Given the description of an element on the screen output the (x, y) to click on. 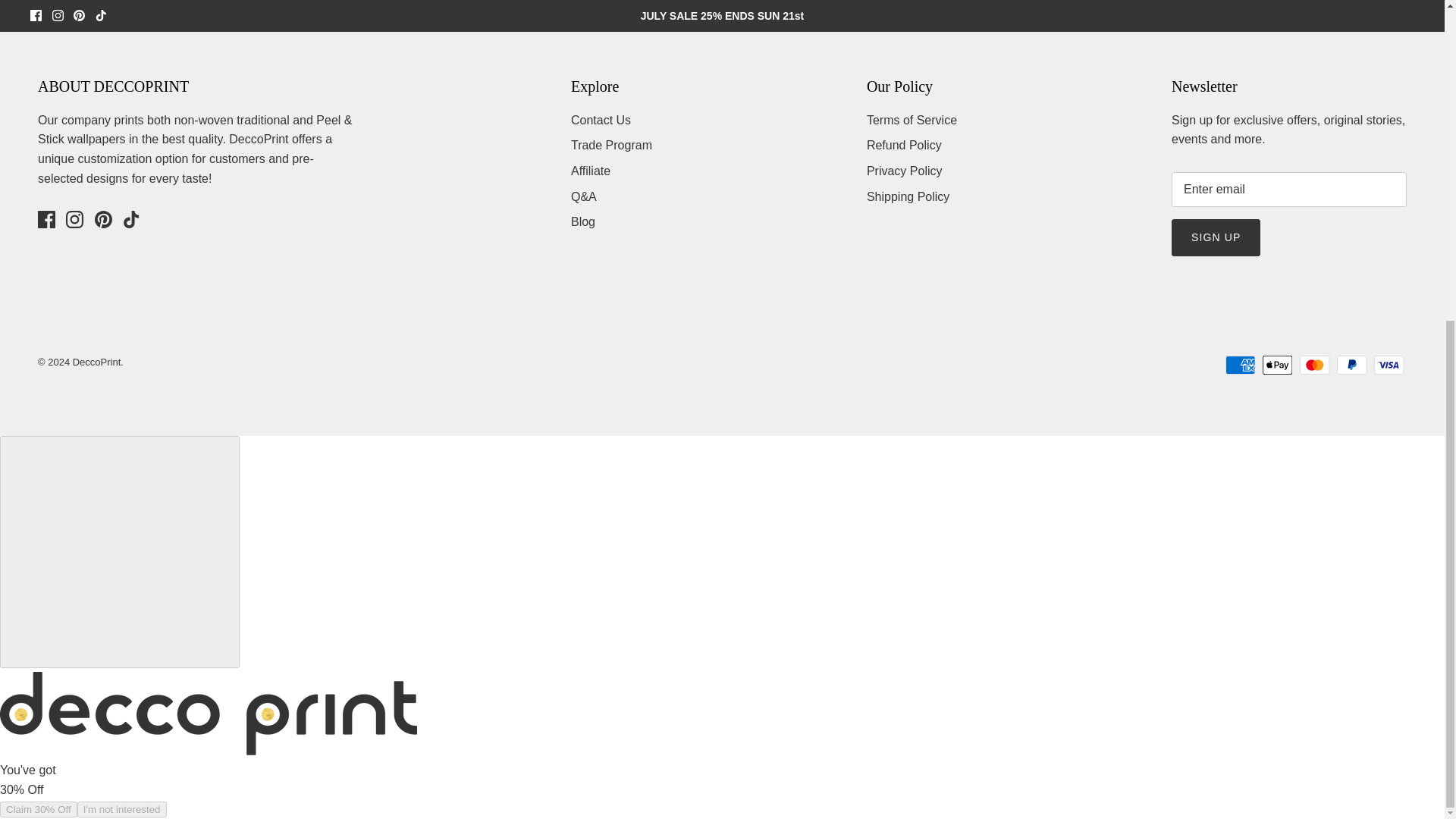
Instagram (73, 219)
Facebook (46, 219)
PayPal (1351, 364)
American Express (1240, 364)
Mastercard (1314, 364)
Visa (1388, 364)
Pinterest (103, 219)
Apple Pay (1277, 364)
